Given the description of an element on the screen output the (x, y) to click on. 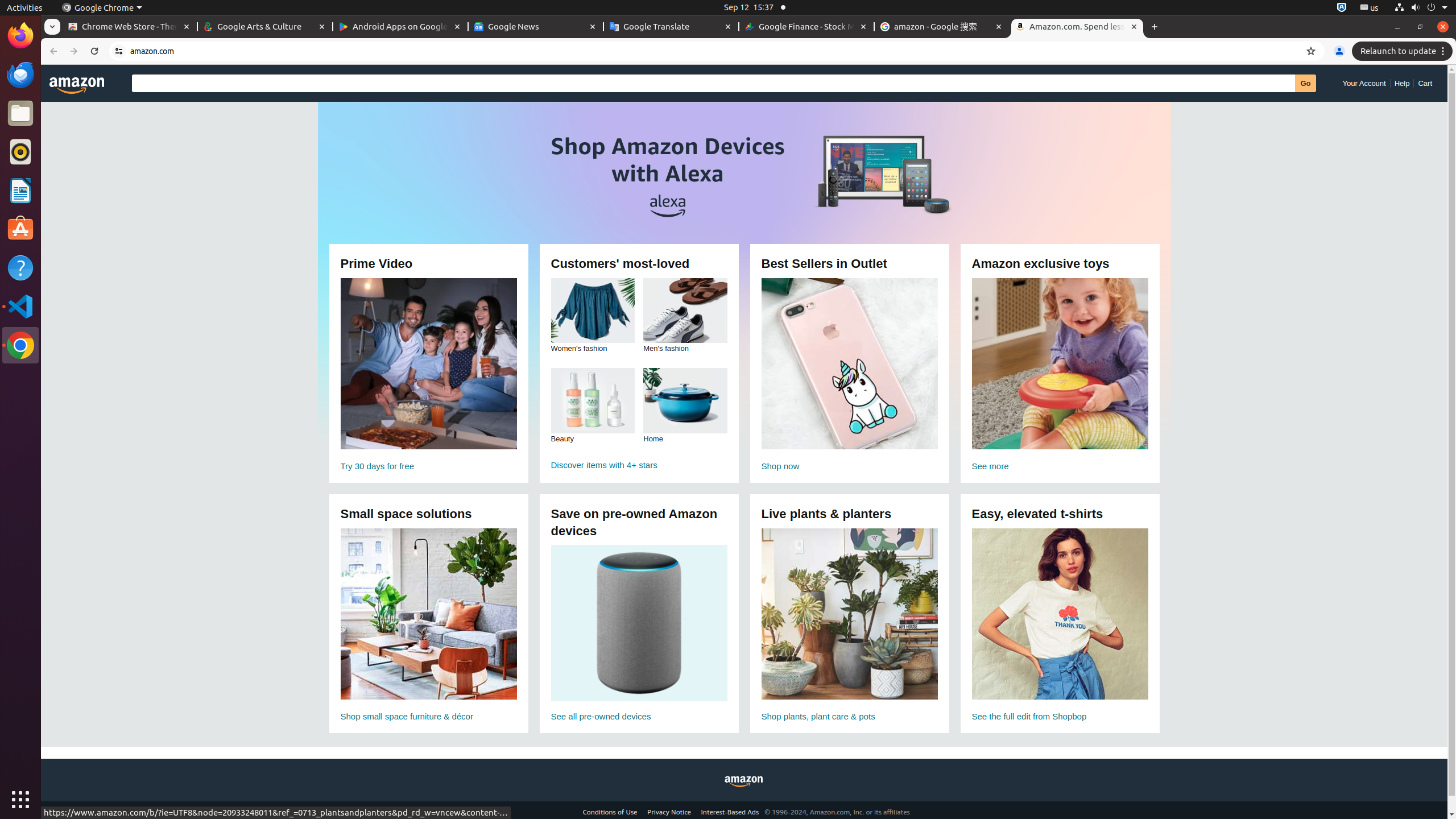
:1.72/StatusNotifierItem Element type: menu (1341, 7)
amazon - Google 搜索 - Memory usage - 96.2 MB Element type: page-tab (941, 26)
Help Element type: push-button (20, 267)
Your Account Element type: link (1364, 83)
Go Element type: push-button (1305, 83)
